Given the description of an element on the screen output the (x, y) to click on. 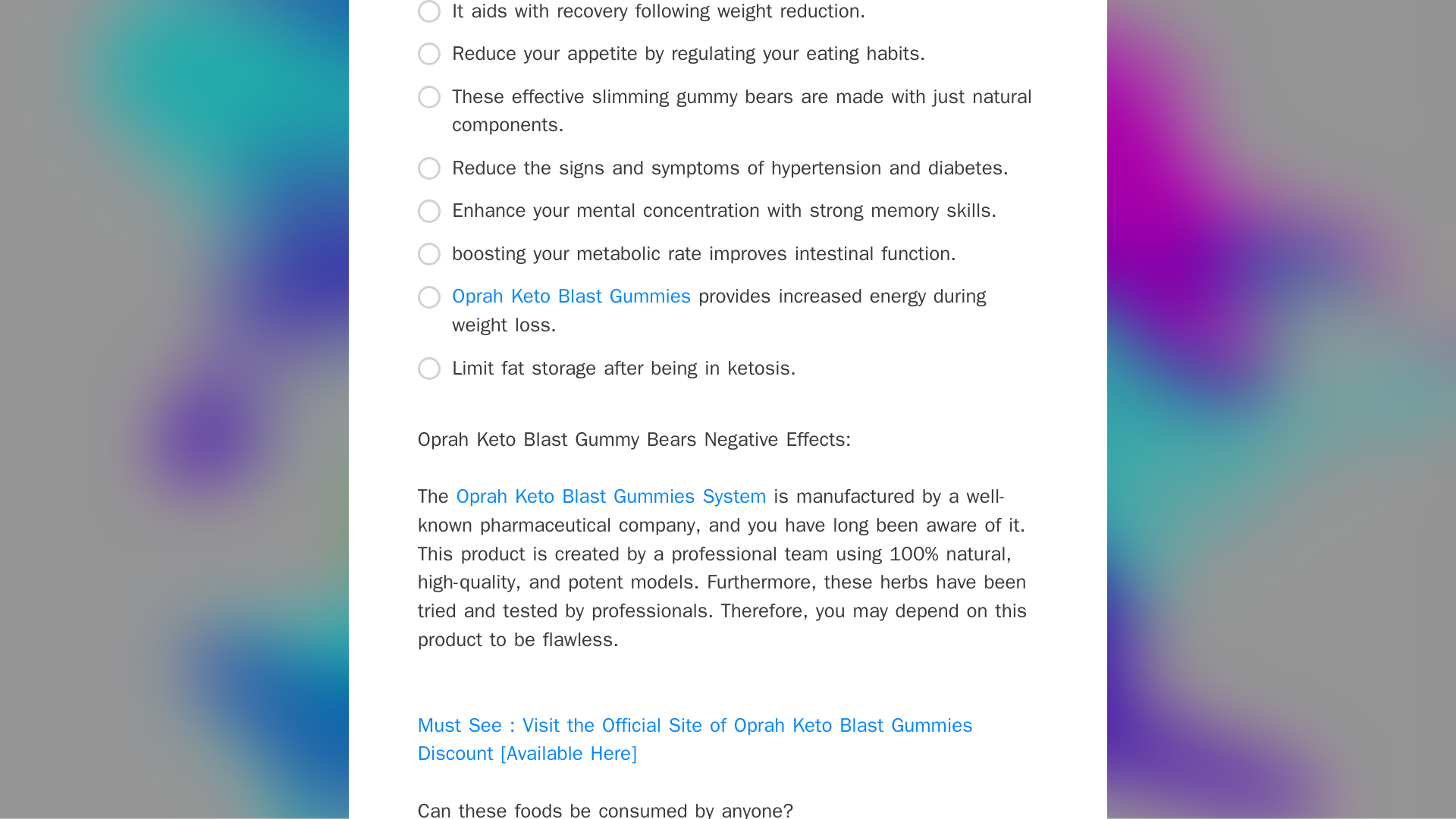
Oprah Keto Blast Gummies System (612, 496)
Oprah Keto Blast Gummies (570, 295)
